Given the description of an element on the screen output the (x, y) to click on. 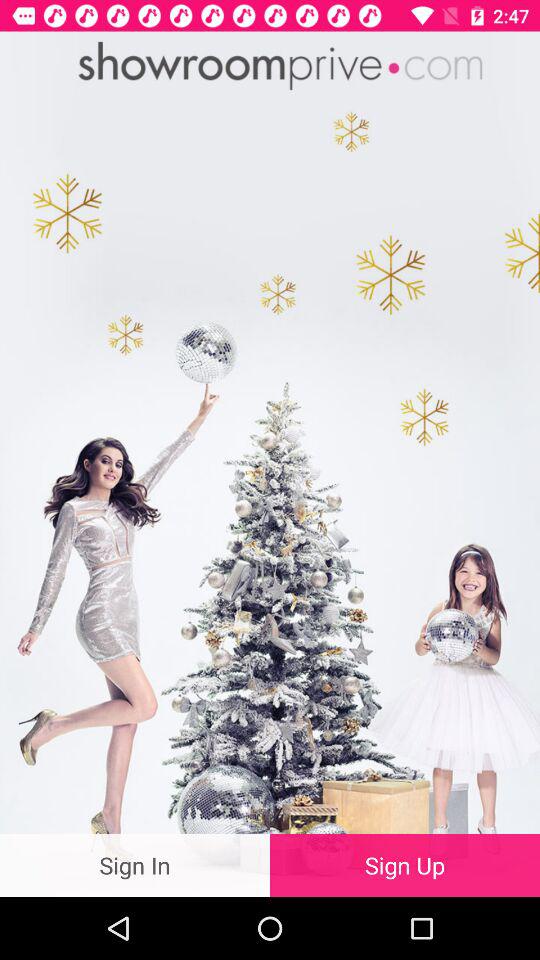
choose sign in (135, 864)
